Given the description of an element on the screen output the (x, y) to click on. 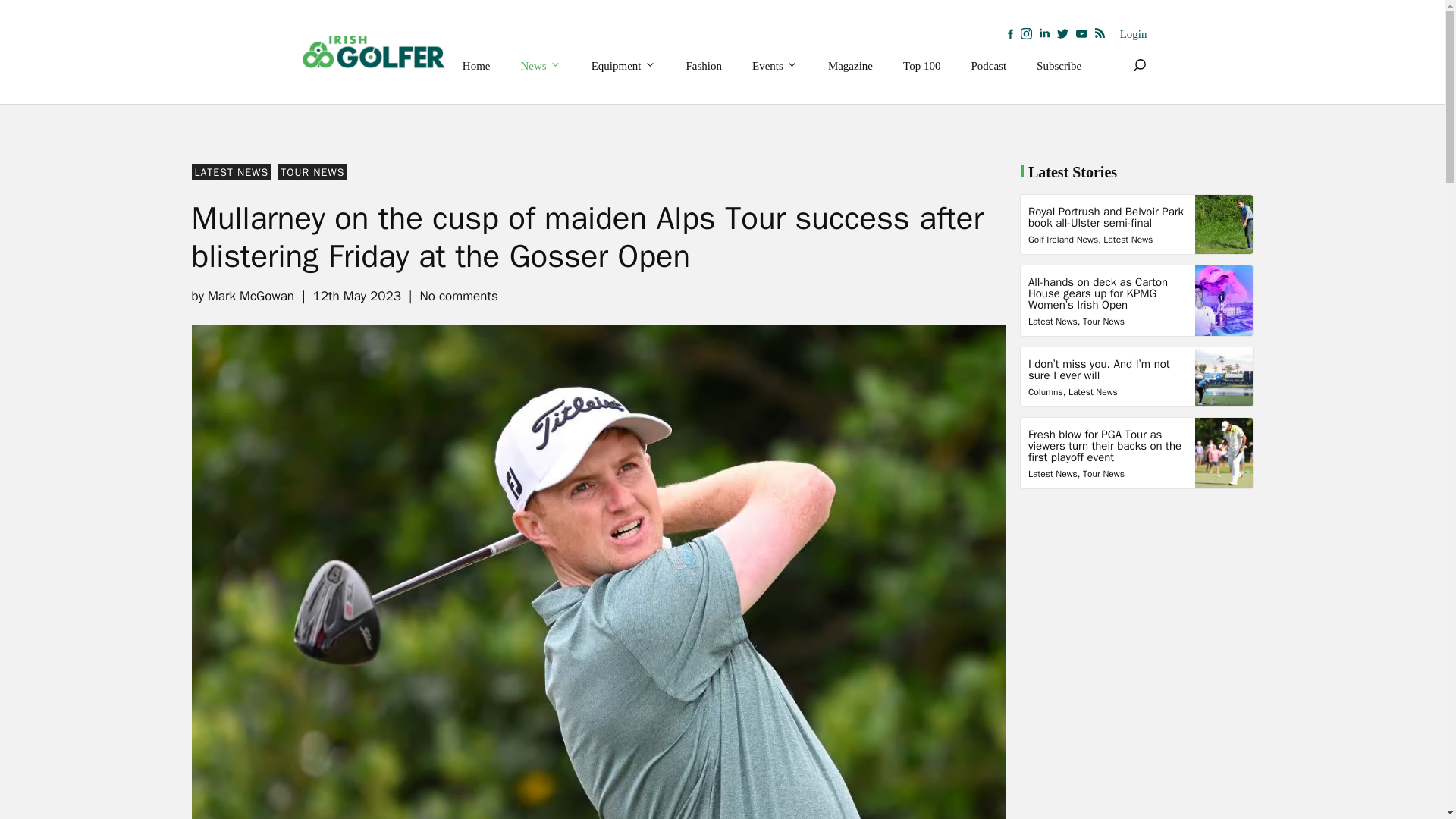
Subscribe (1059, 64)
Login (1133, 34)
Top 100 (921, 64)
News (540, 64)
Fashion (704, 64)
Equipment (623, 64)
Events (774, 64)
Home (475, 64)
Magazine (850, 64)
Podcast (988, 64)
